Given the description of an element on the screen output the (x, y) to click on. 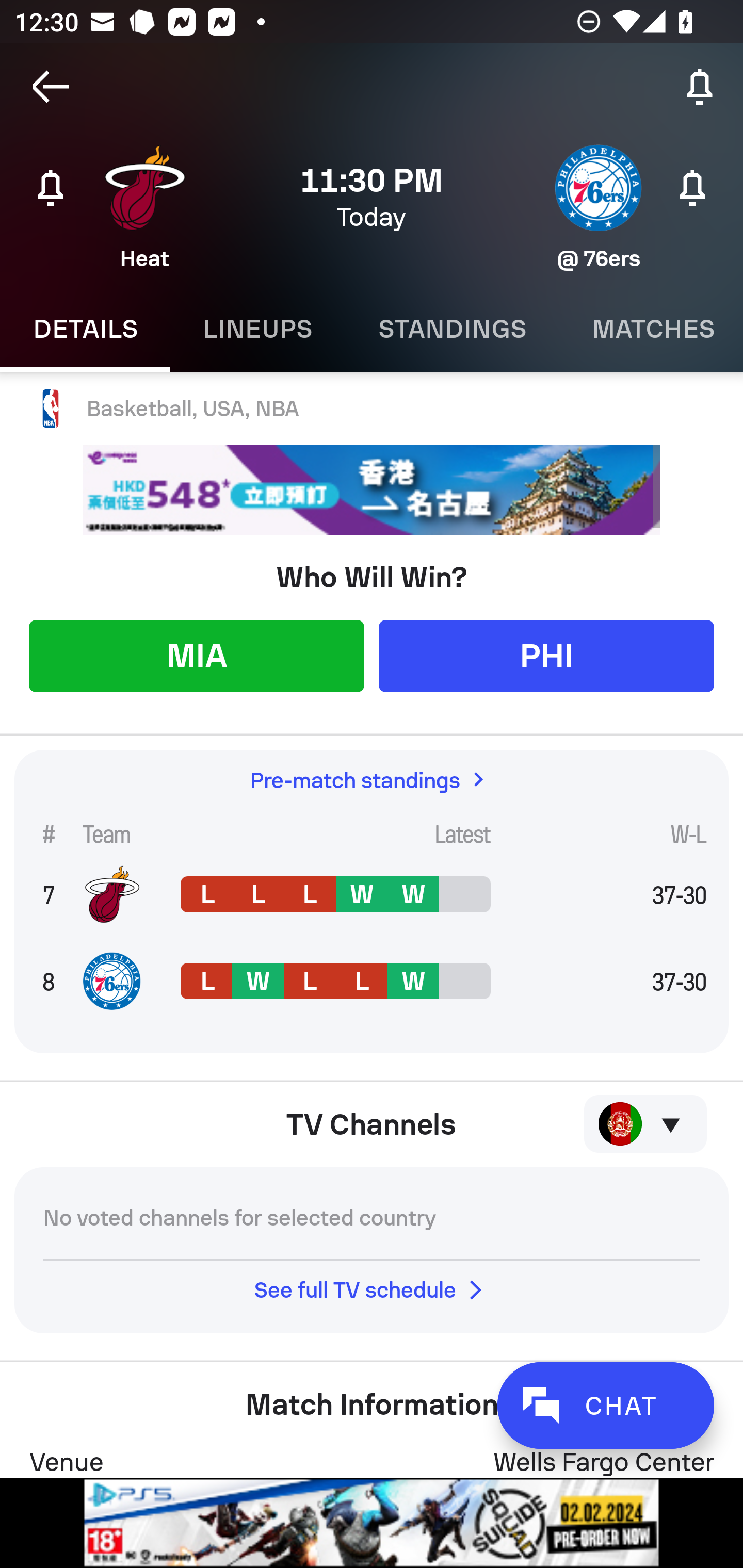
Navigate up (50, 86)
Lineups LINEUPS (257, 329)
Standings STANDINGS (451, 329)
Matches MATCHES (650, 329)
Basketball, USA, NBA (371, 409)
ysfecx5i_320x50 (371, 489)
MIA (196, 655)
PHI (546, 655)
See full TV schedule (371, 1289)
CHAT (605, 1405)
kgdfiivk_320x50 (371, 1522)
